Given the description of an element on the screen output the (x, y) to click on. 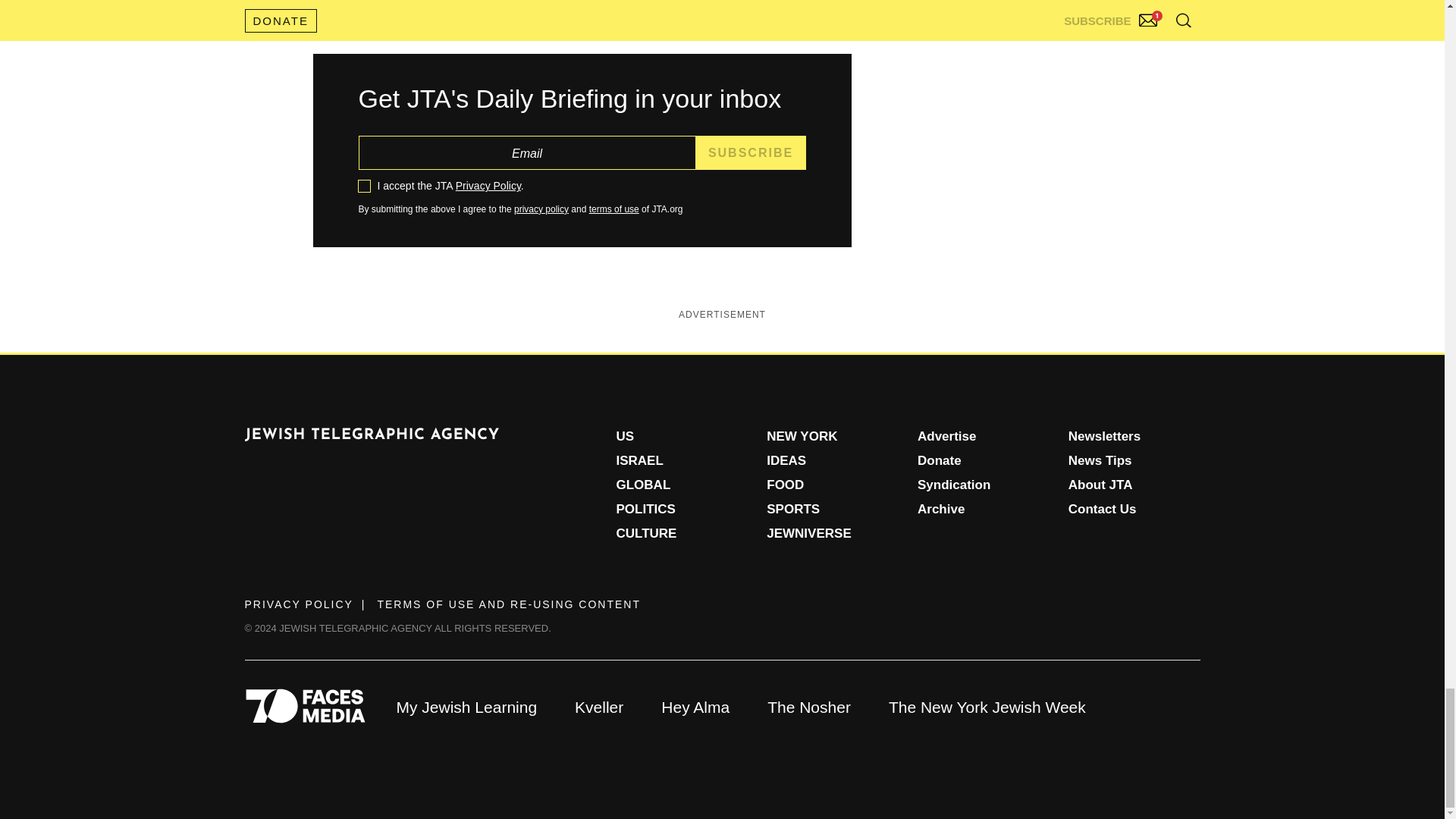
Subscribe (750, 152)
